Given the description of an element on the screen output the (x, y) to click on. 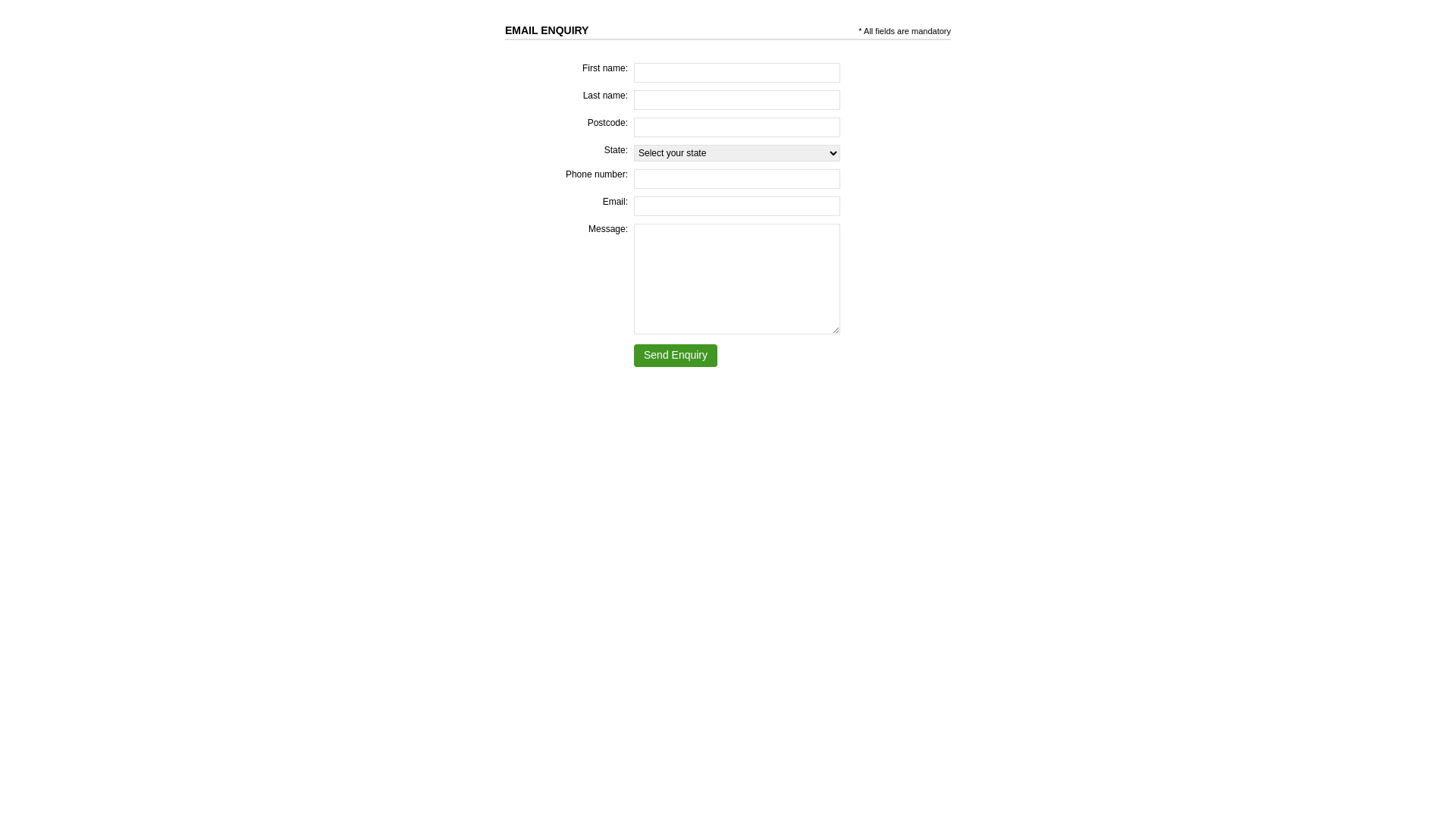
Send Enquiry Element type: text (675, 355)
  Element type: text (589, 30)
